Given the description of an element on the screen output the (x, y) to click on. 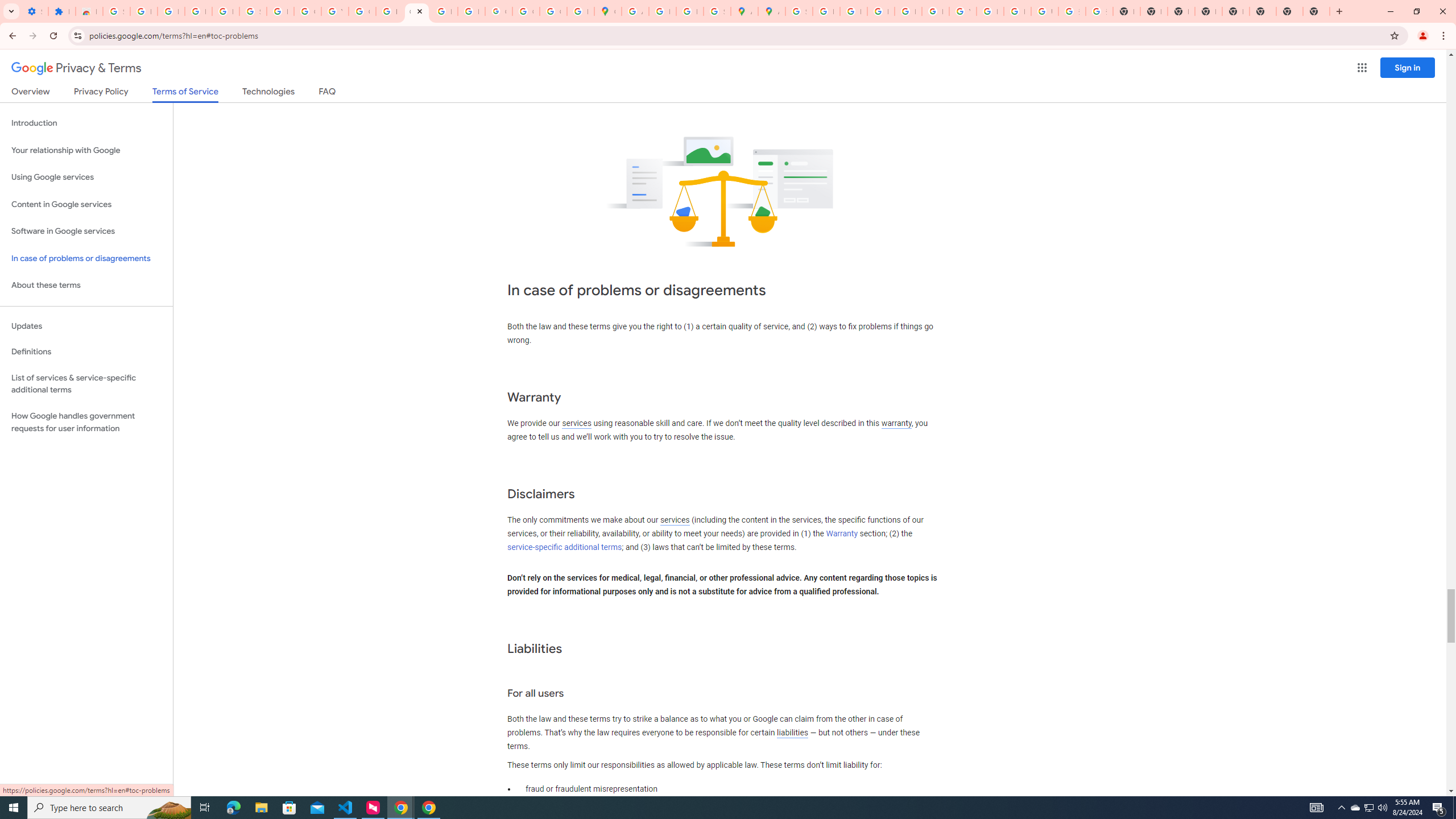
Sign in - Google Accounts (253, 11)
Your relationship with Google (86, 150)
YouTube (334, 11)
Using Google services (86, 176)
Sign in - Google Accounts (116, 11)
liabilities (792, 732)
Google Maps (607, 11)
